Given the description of an element on the screen output the (x, y) to click on. 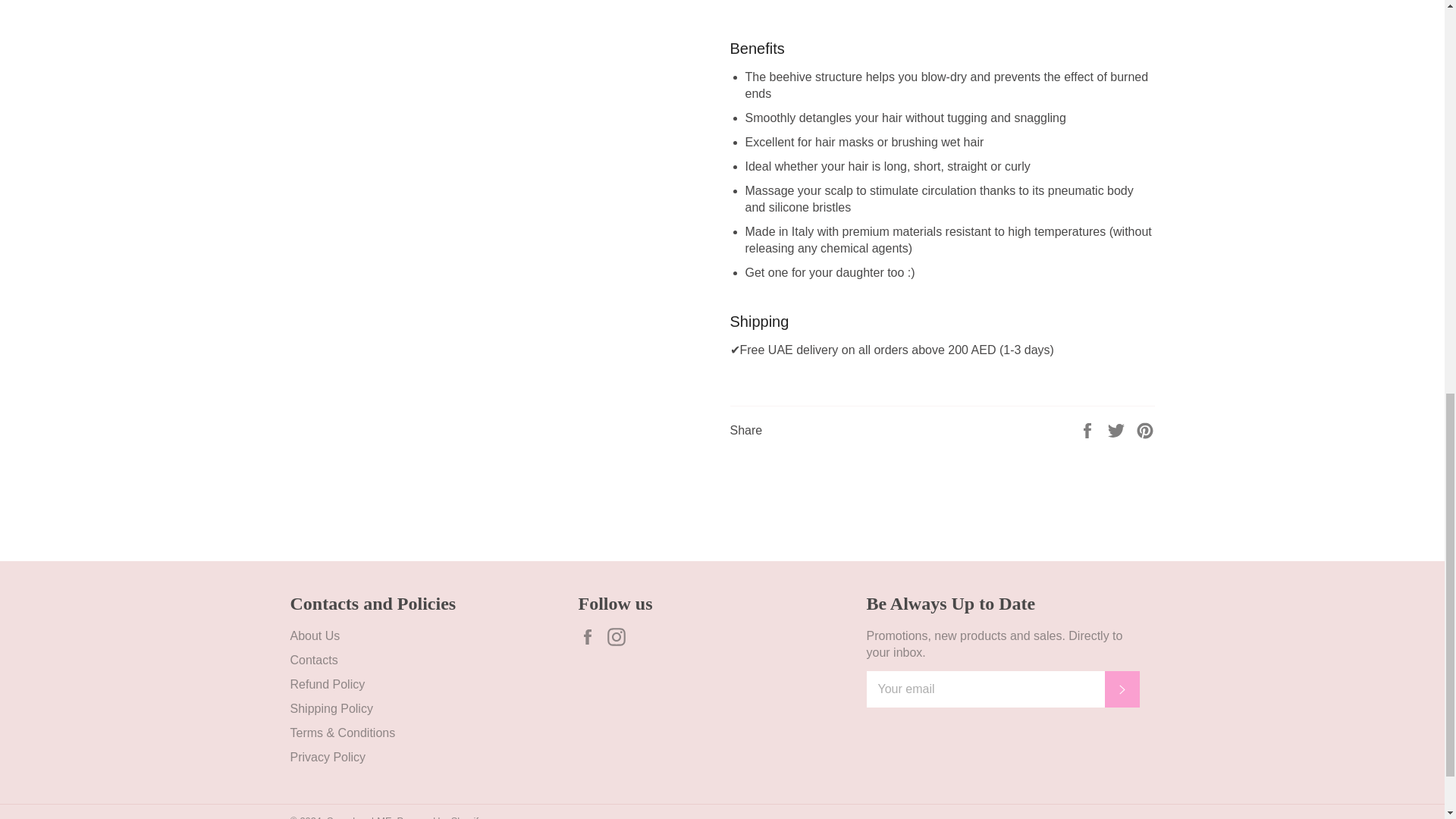
Share on Facebook (1088, 429)
Tweet on Twitter (1117, 429)
SuperbrushME on Facebook (591, 637)
Pin on Pinterest (1144, 429)
SuperbrushME on Instagram (620, 637)
